Given the description of an element on the screen output the (x, y) to click on. 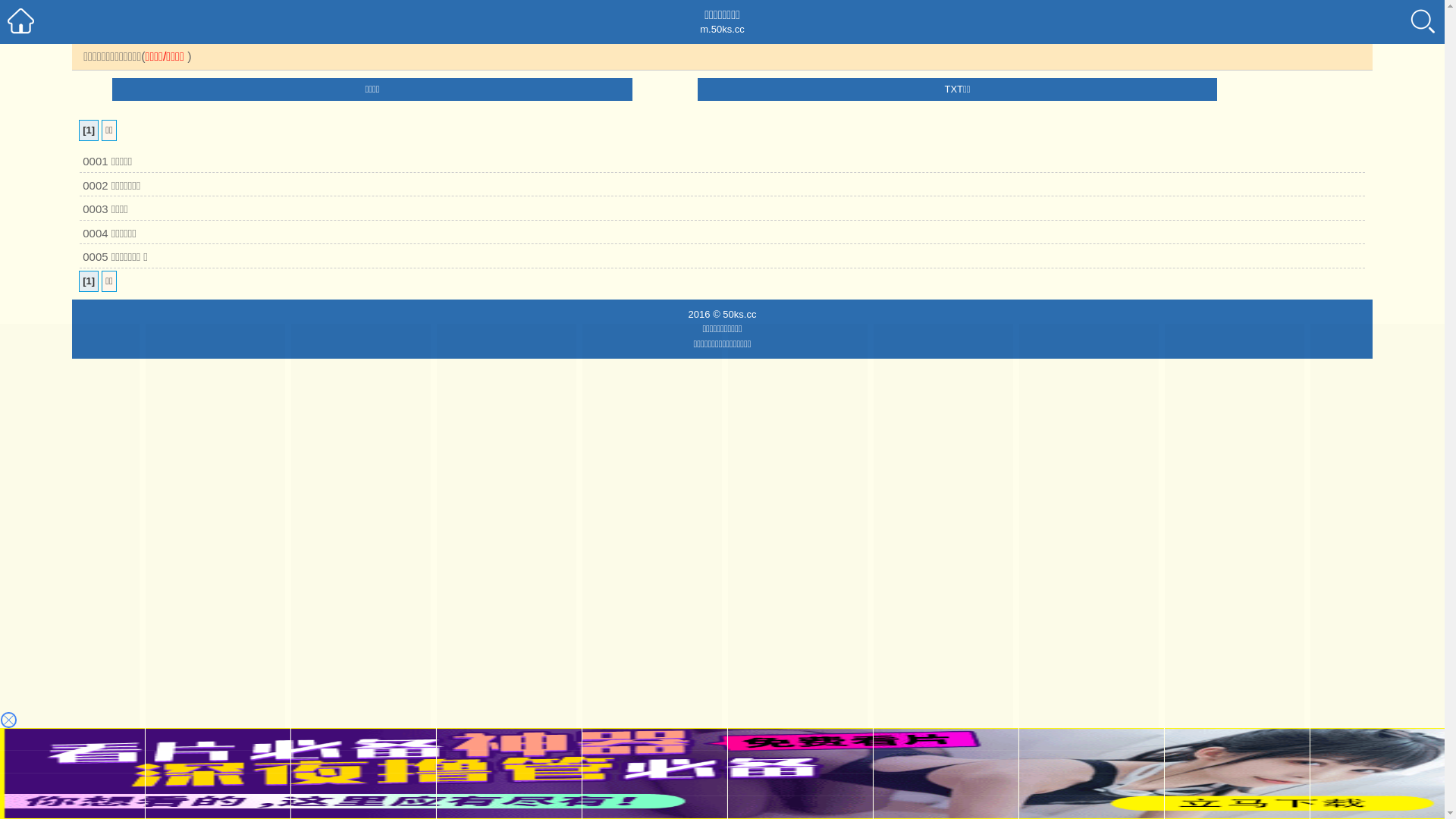
50ks.cc Element type: text (739, 313)
